Given the description of an element on the screen output the (x, y) to click on. 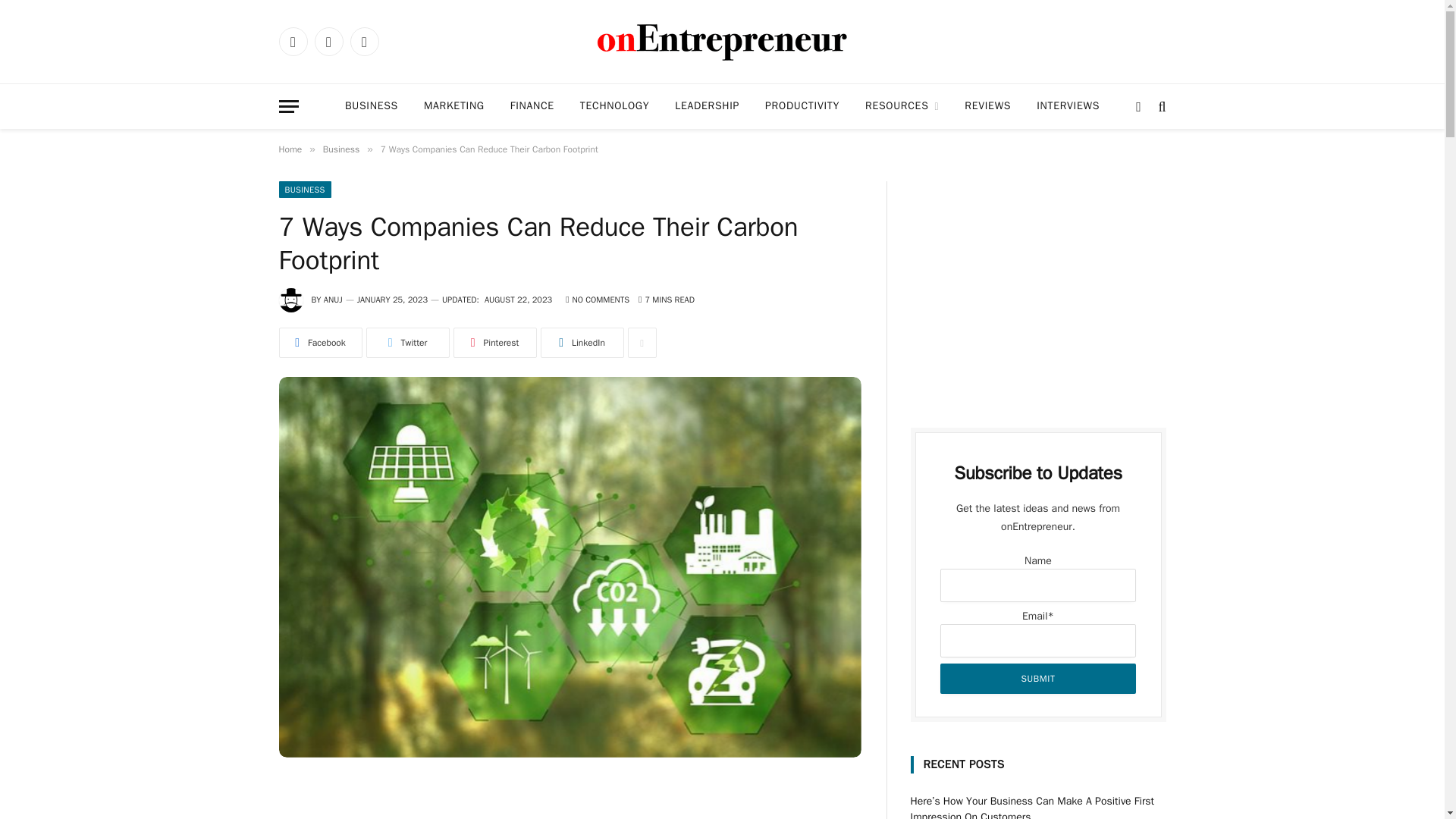
TECHNOLOGY (614, 106)
Facebook (293, 41)
LinkedIn (364, 41)
PRODUCTIVITY (801, 106)
Submit (1037, 678)
Switch to Dark Design - easier on eyes. (1138, 106)
FINANCE (532, 106)
onEntrepreneur (721, 41)
Share on LinkedIn (581, 342)
Share on Pinterest (494, 342)
BUSINESS (370, 106)
Posts by Anuj (332, 299)
LEADERSHIP (707, 106)
MARKETING (453, 106)
Share on Facebook (320, 342)
